Given the description of an element on the screen output the (x, y) to click on. 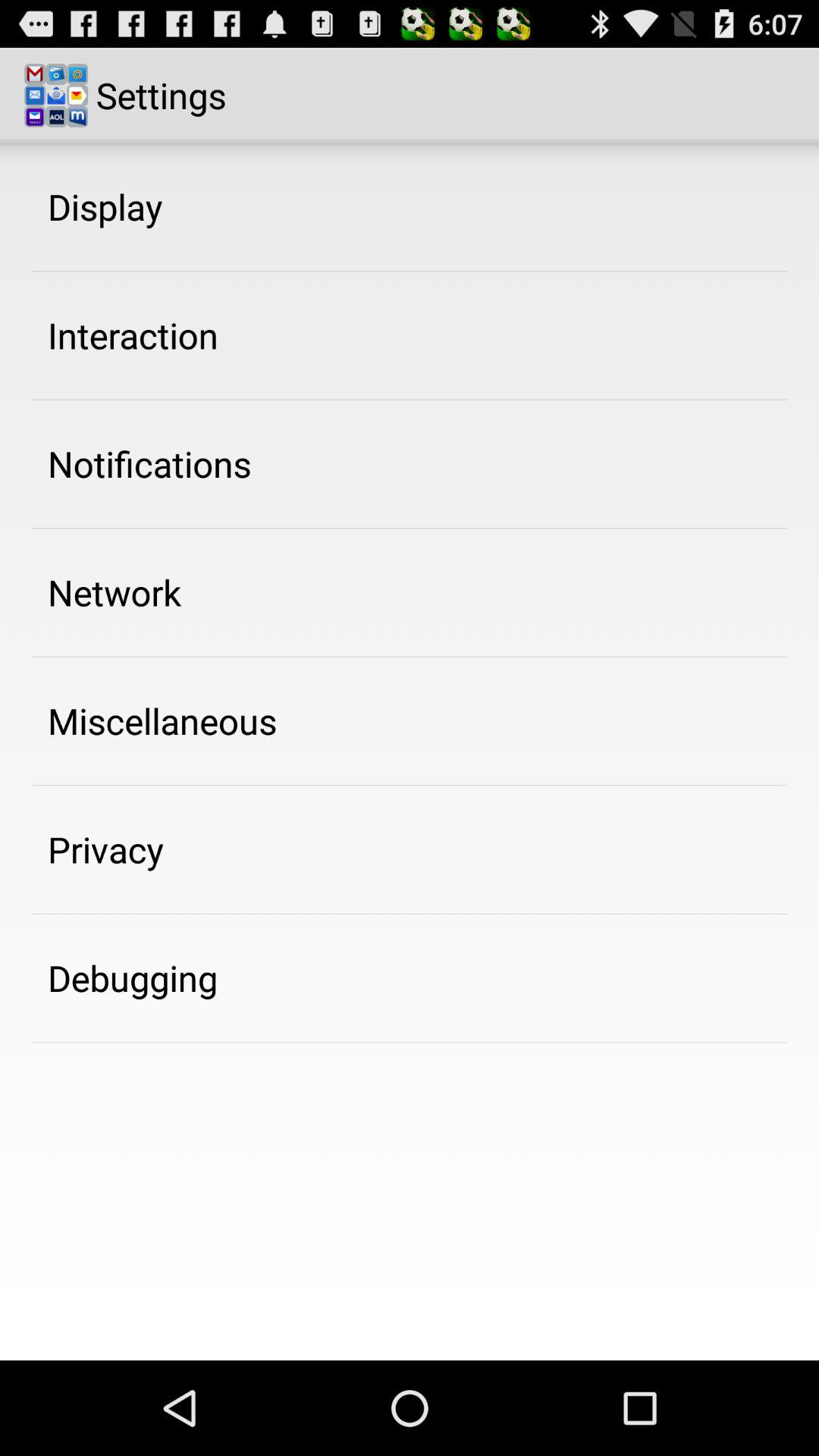
flip to notifications icon (149, 463)
